Given the description of an element on the screen output the (x, y) to click on. 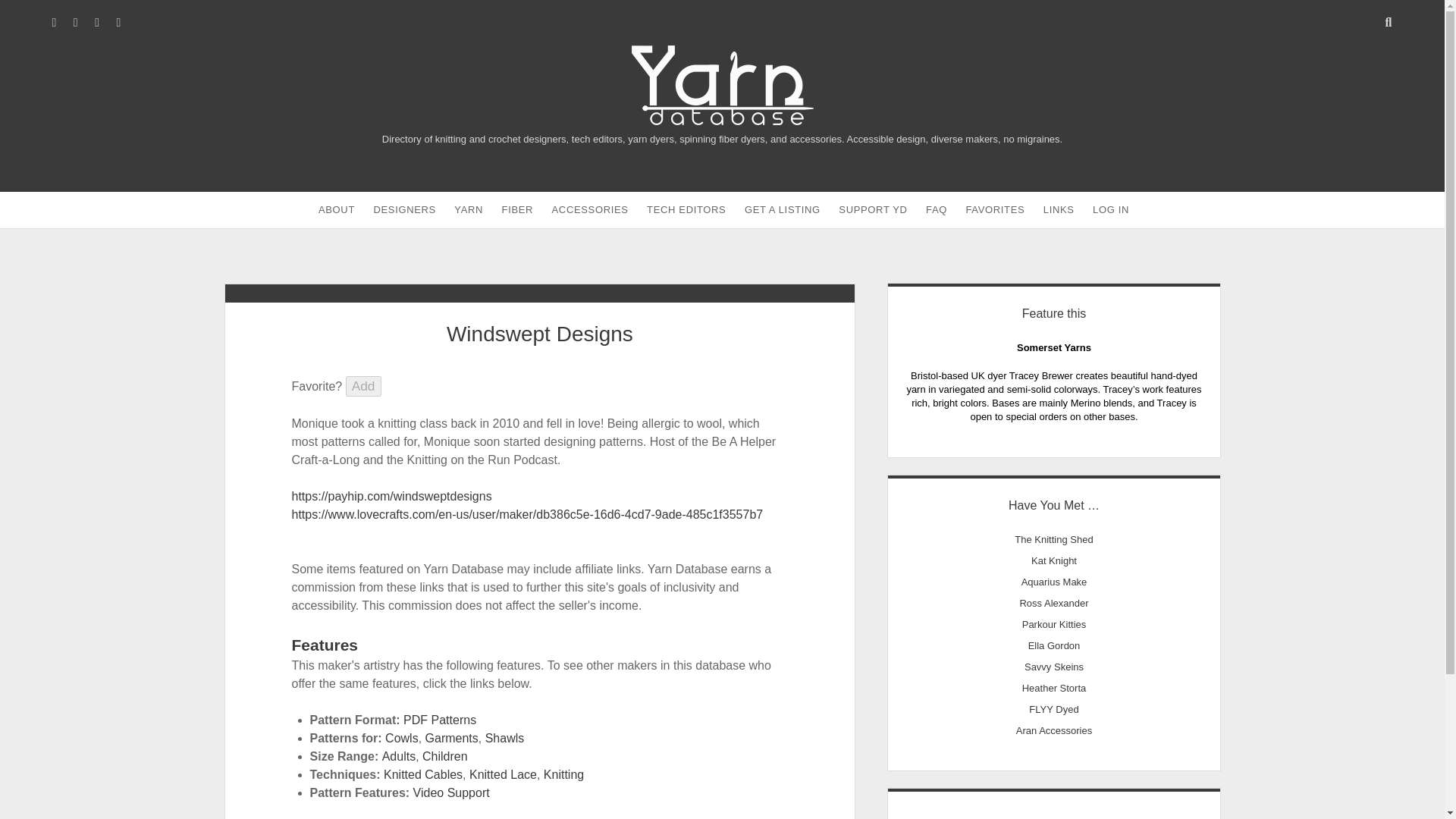
LOG IN (1110, 209)
PDF Patterns (439, 719)
Knitted Lace (502, 774)
FIBER (518, 209)
Parkour Kitties (1054, 624)
Yarn Database (721, 117)
The Knitting Shed (1053, 539)
Children (444, 756)
Knitted Cables (423, 774)
Add (363, 385)
TECH EDITORS (686, 209)
Kat Knight (1053, 560)
Garments (452, 738)
ABOUT (336, 209)
FAVORITES (994, 209)
